Given the description of an element on the screen output the (x, y) to click on. 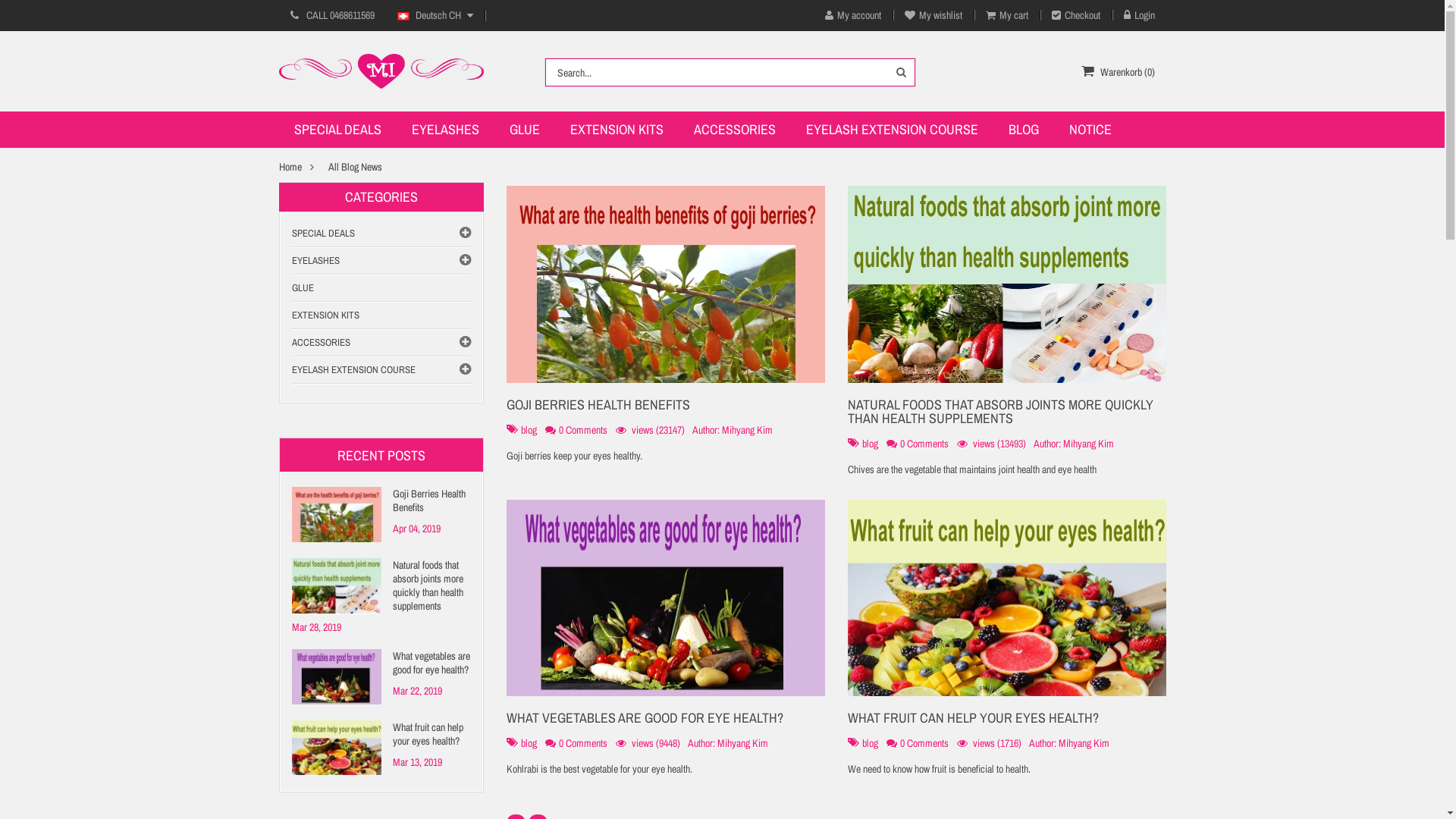
blog Element type: text (869, 443)
ACCESSORIES Element type: text (380, 342)
EYELASH EXTENSION COURSE Element type: text (380, 369)
What vegetables are good for eye health? Element type: hover (665, 597)
MI Eyelashes Element type: hover (381, 70)
What fruit can help your eyes health? Element type: hover (335, 748)
My wishlist Element type: text (933, 14)
EXTENSION KITS Element type: text (616, 128)
Home Element type: text (290, 166)
EYELASHES Element type: text (380, 260)
Login Element type: text (1138, 14)
blog Element type: text (528, 742)
GLUE Element type: text (524, 128)
0 Comments Element type: text (923, 443)
NOTICE Element type: text (1090, 128)
BLOG Element type: text (1023, 128)
EXTENSION KITS Element type: text (380, 315)
What fruit can help your eyes health? Element type: text (380, 733)
0 Comments Element type: text (582, 429)
EYELASHES Element type: text (444, 128)
0 Comments Element type: text (923, 742)
Warenkorb (0) Element type: text (1117, 72)
Goji Berries Health Benefits Element type: text (380, 500)
GOJI BERRIES HEALTH BENEFITS Element type: text (598, 404)
My account Element type: text (852, 14)
Goji Berries Health Benefits Element type: hover (665, 283)
My cart Element type: text (1006, 14)
What vegetables are good for eye health? Element type: text (380, 662)
SPECIAL DEALS Element type: text (337, 128)
What fruit can help your eyes health? Element type: hover (1006, 597)
EYELASH EXTENSION COURSE Element type: text (891, 128)
What vegetables are good for eye health? Element type: hover (335, 677)
WHAT VEGETABLES ARE GOOD FOR EYE HEALTH? Element type: text (644, 717)
WHAT FRUIT CAN HELP YOUR EYES HEALTH? Element type: text (972, 717)
blog Element type: text (869, 742)
SPECIAL DEALS Element type: text (380, 233)
All Blog News Element type: text (354, 166)
0 Comments Element type: text (582, 742)
RECENT POSTS Element type: text (380, 454)
GLUE Element type: text (380, 287)
Goji Berries Health Benefits Element type: hover (335, 514)
blog Element type: text (528, 429)
ACCESSORIES Element type: text (733, 128)
Checkout Element type: text (1076, 14)
